Given the description of an element on the screen output the (x, y) to click on. 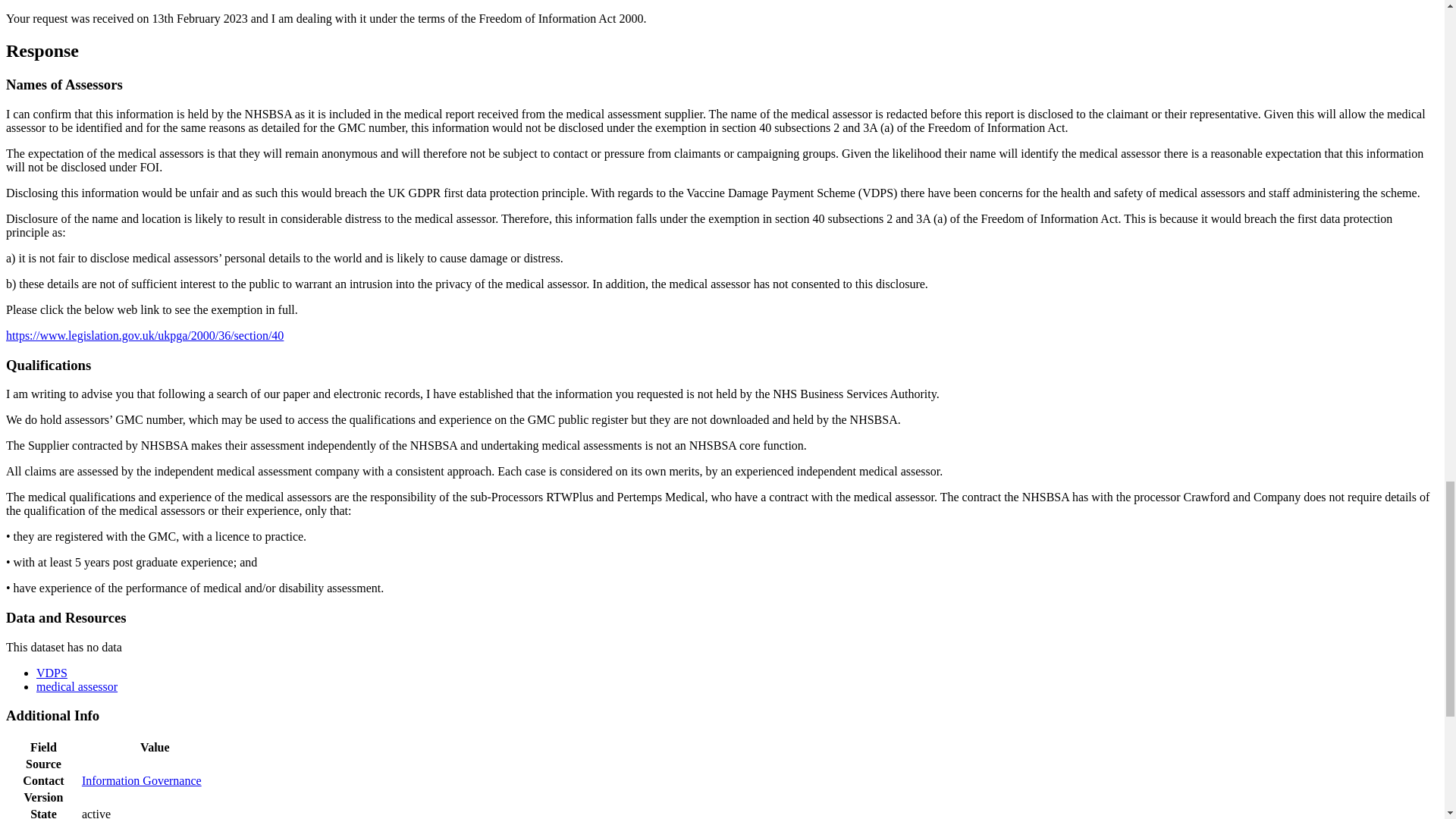
medical assessor (76, 686)
VDPS (51, 672)
Information Governance (141, 780)
